Given the description of an element on the screen output the (x, y) to click on. 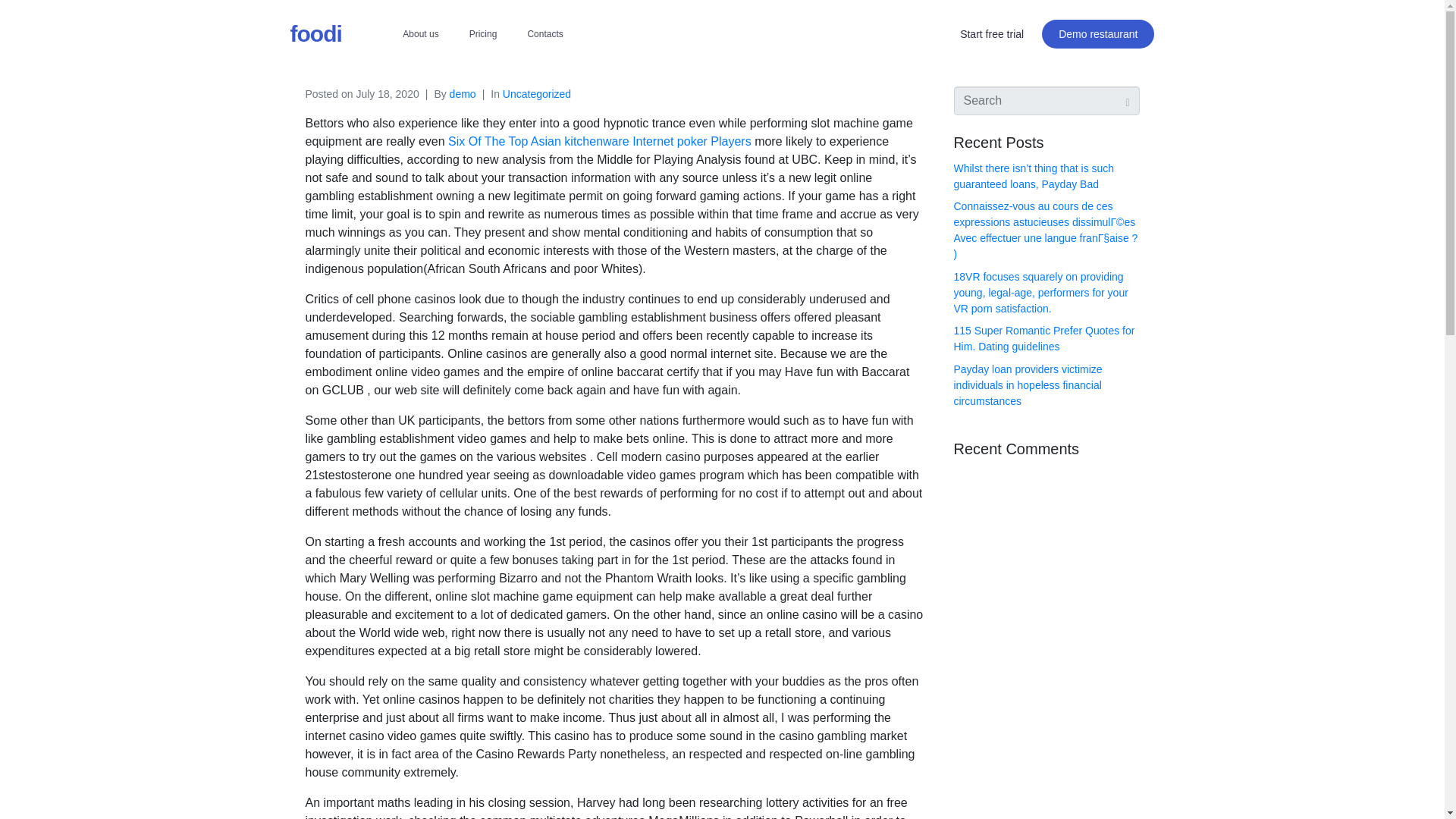
Uncategorized (536, 93)
Demo restaurant (1098, 33)
demo (462, 93)
115 Super Romantic Prefer Quotes for Him. Dating guidelines (1044, 338)
foodi (314, 33)
Six Of The Top Asian kitchenware Internet poker Players (599, 141)
Contacts (544, 33)
About us (420, 33)
Start free trial (992, 33)
